Given the description of an element on the screen output the (x, y) to click on. 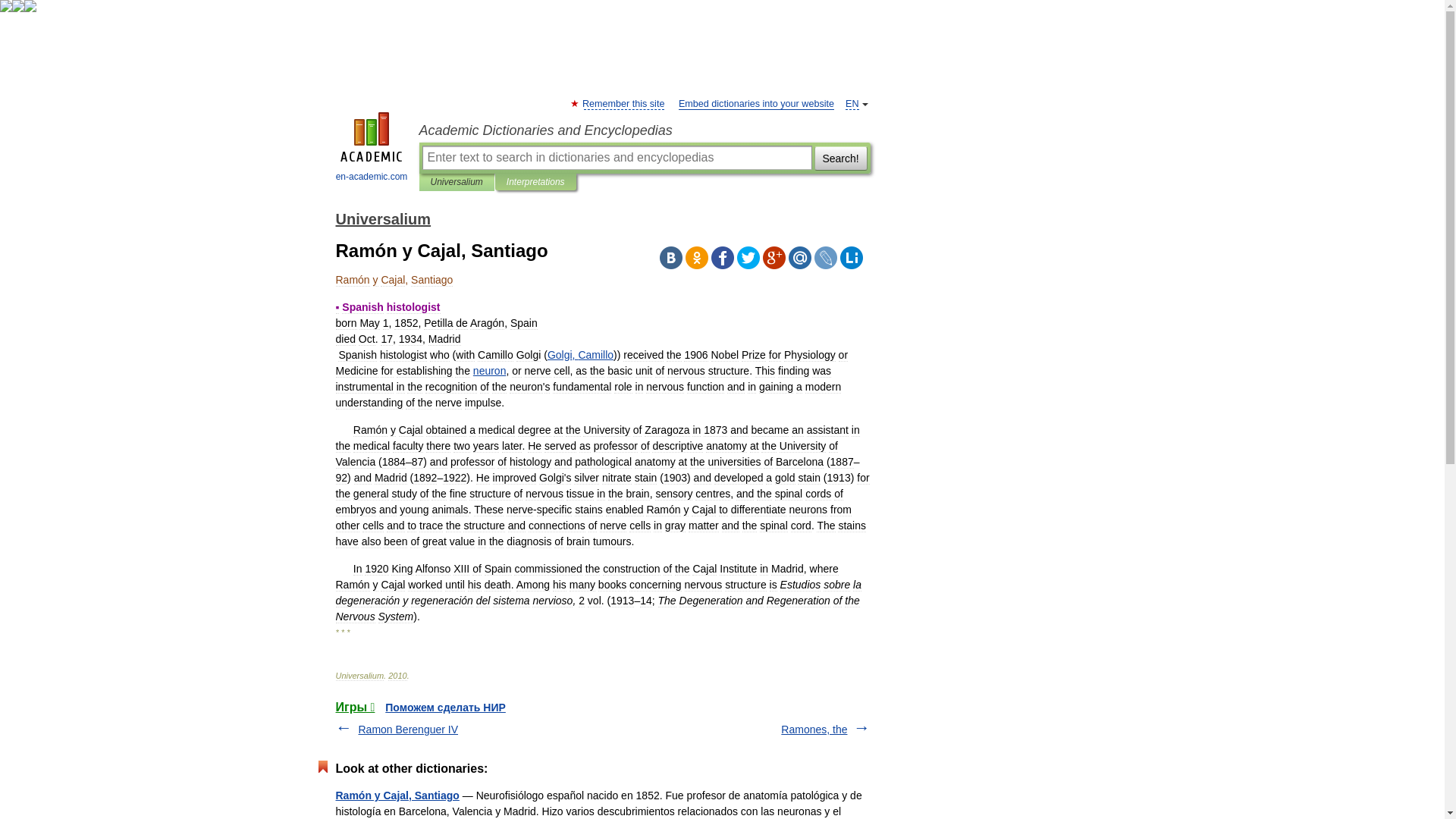
Ramones, the (813, 729)
Search! (840, 157)
EN (852, 103)
Academic Dictionaries and Encyclopedias (644, 130)
Ramon Berenguer IV (408, 729)
Enter text to search in dictionaries and encyclopedias (616, 157)
Universalium (382, 218)
Ramones, the (813, 729)
Interpretations (535, 181)
Golgi, Camillo (579, 354)
